Given the description of an element on the screen output the (x, y) to click on. 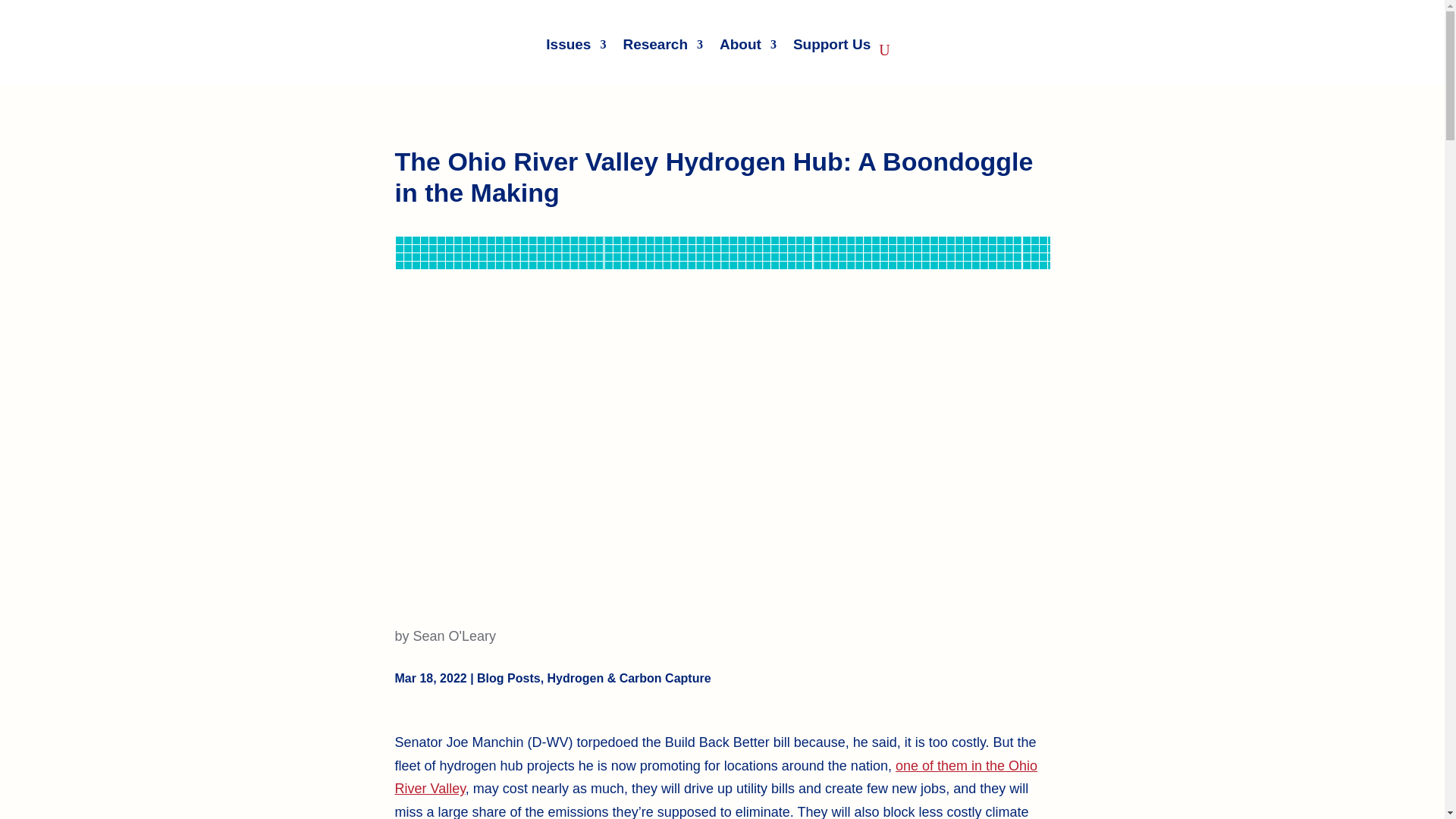
About (747, 44)
Blog Posts (508, 677)
one of them in the Ohio River Valley (715, 777)
Issues (575, 44)
Research (663, 44)
Support Us (831, 44)
